Given the description of an element on the screen output the (x, y) to click on. 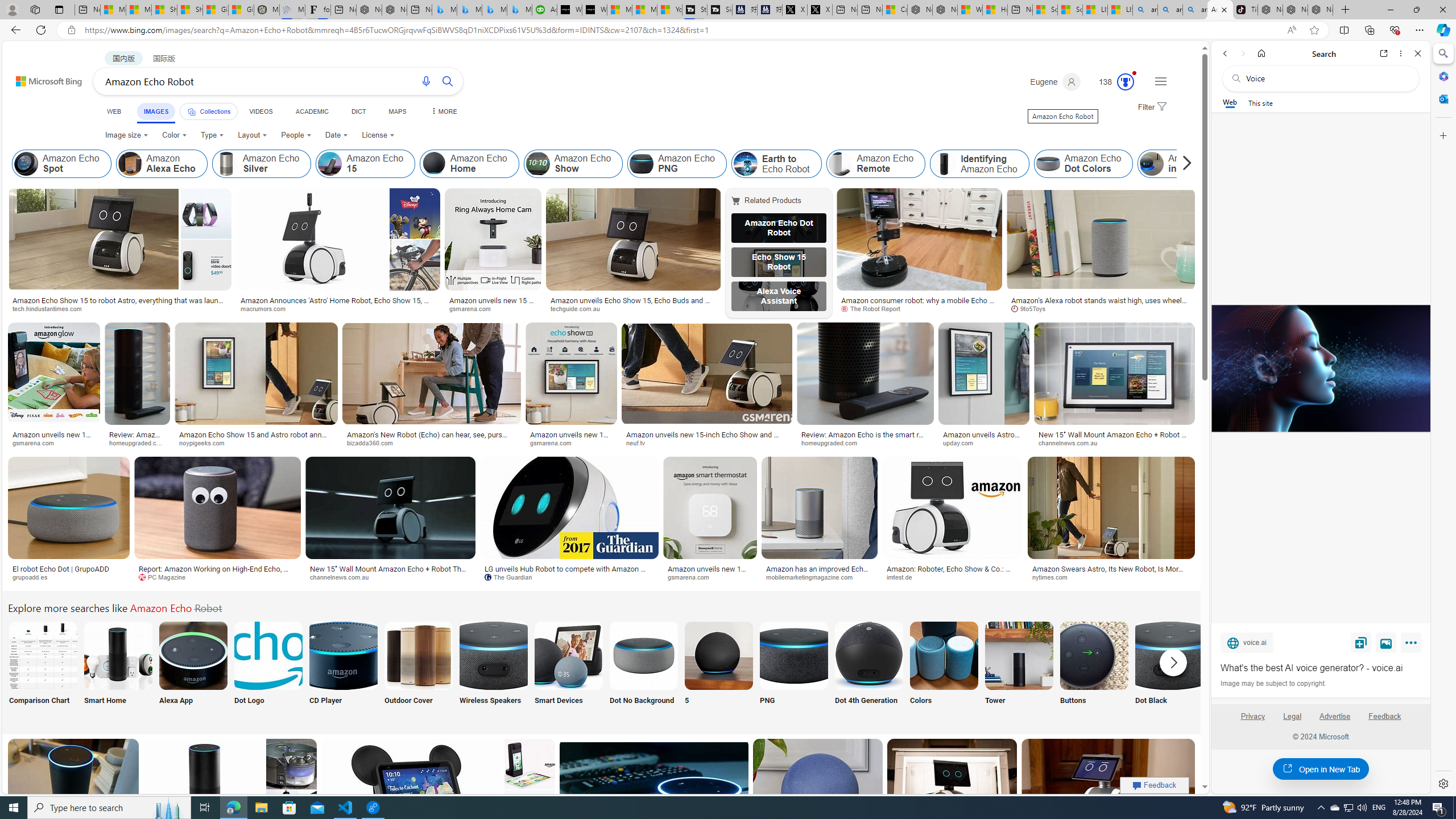
Scroll more suggestions right (1173, 662)
Search the web (1326, 78)
Search button (447, 80)
Dot Logo (268, 669)
Nordace - Best Sellers (1270, 9)
Class: outer-circle-animation (1125, 81)
The Guardian (568, 576)
Class: item col (1187, 163)
